Given the description of an element on the screen output the (x, y) to click on. 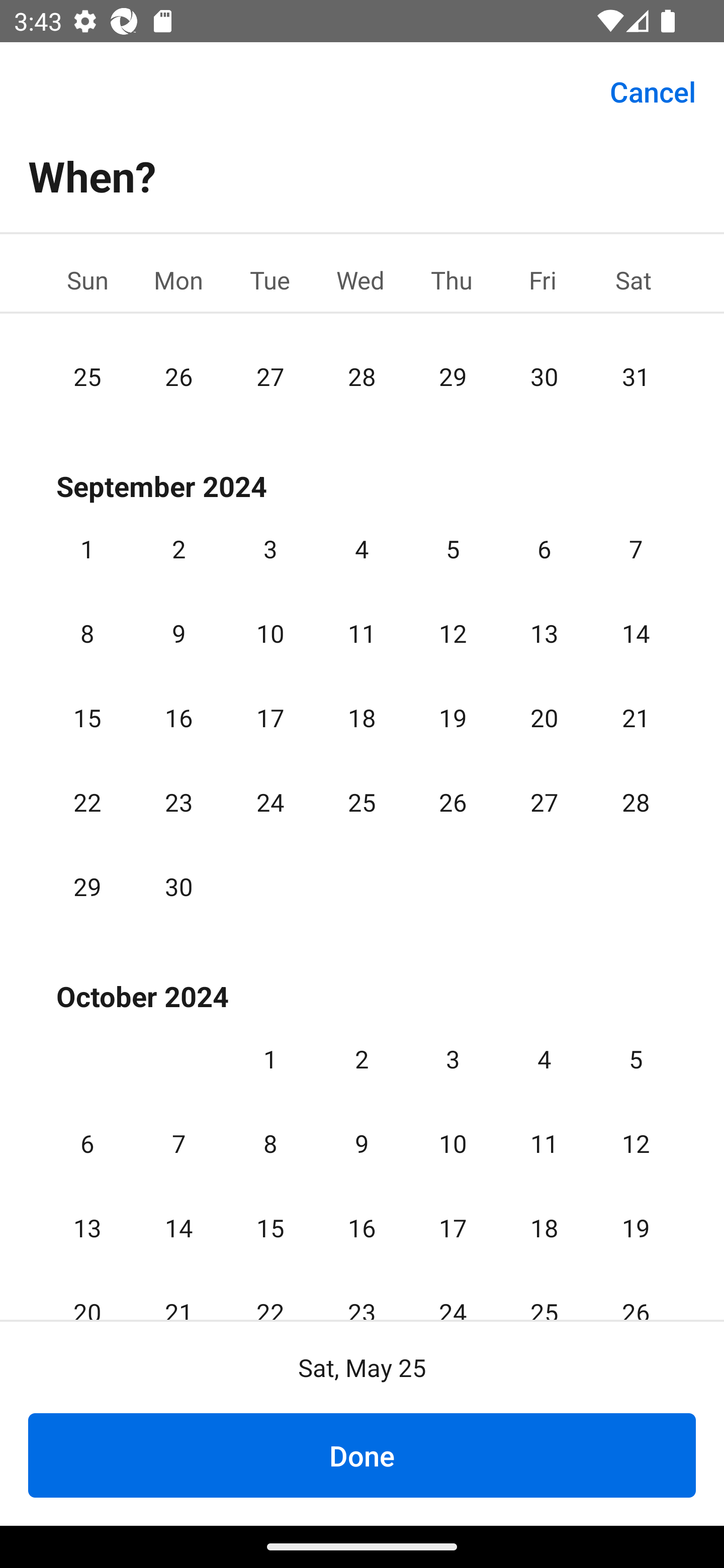
Cancel (652, 90)
Done (361, 1454)
